Given the description of an element on the screen output the (x, y) to click on. 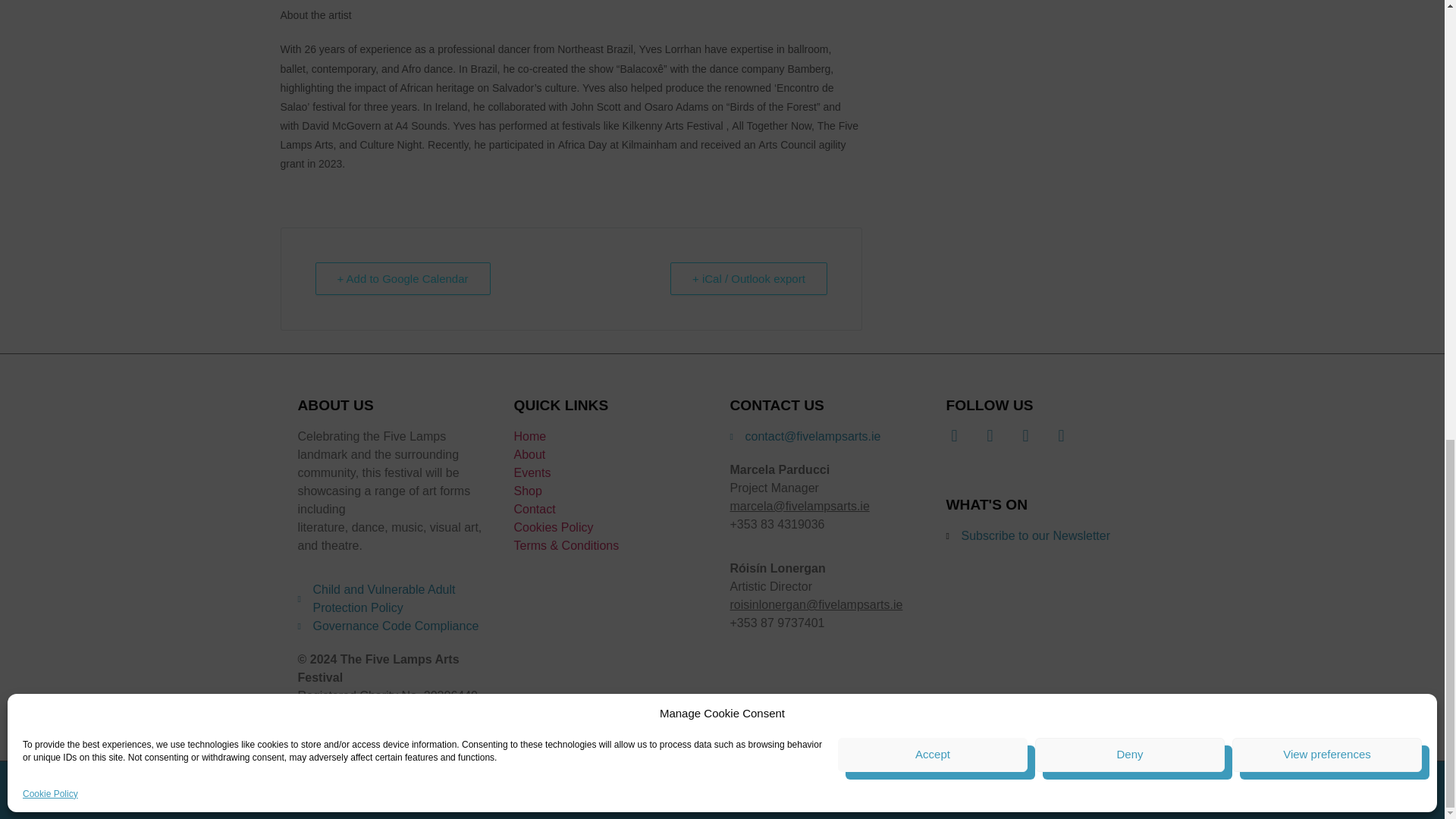
Deny (1129, 207)
Accept (932, 207)
View preferences (1326, 207)
Cookie Policy (50, 246)
